Given the description of an element on the screen output the (x, y) to click on. 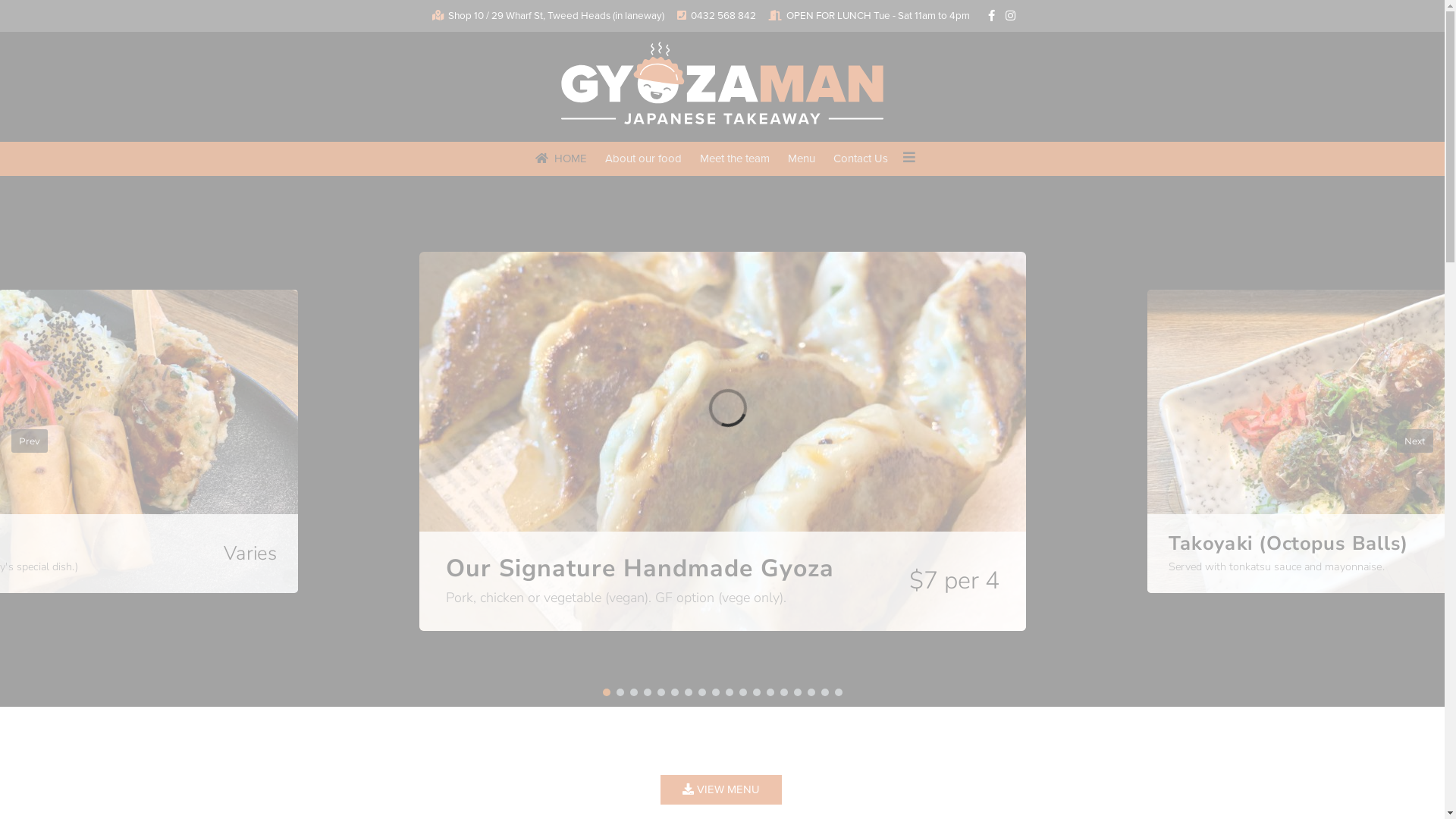
Menu Element type: hover (909, 156)
Menu Element type: text (801, 158)
Contact Us Element type: text (860, 158)
0432 568 842 Element type: text (722, 15)
Shop 10 / 29 Wharf St, Tweed Heads (in laneway) Element type: text (555, 15)
HOME Element type: text (559, 158)
Meet the team Element type: text (734, 158)
VIEW MENU Element type: text (720, 789)
About our food Element type: text (643, 158)
Pork, chicken & vegan gyoza (GF option) Element type: hover (721, 440)
